Given the description of an element on the screen output the (x, y) to click on. 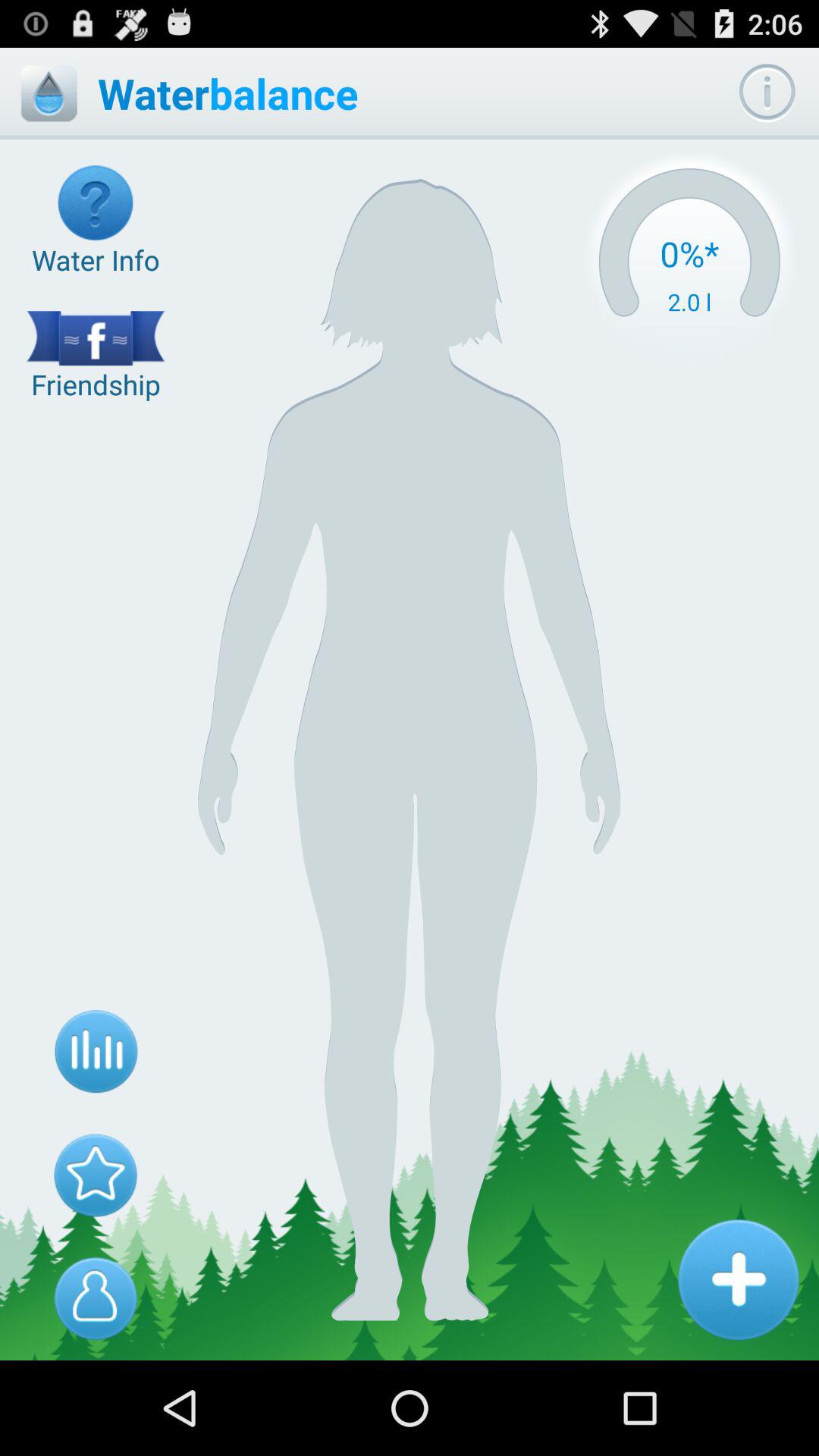
blue graphics button (95, 1051)
